Given the description of an element on the screen output the (x, y) to click on. 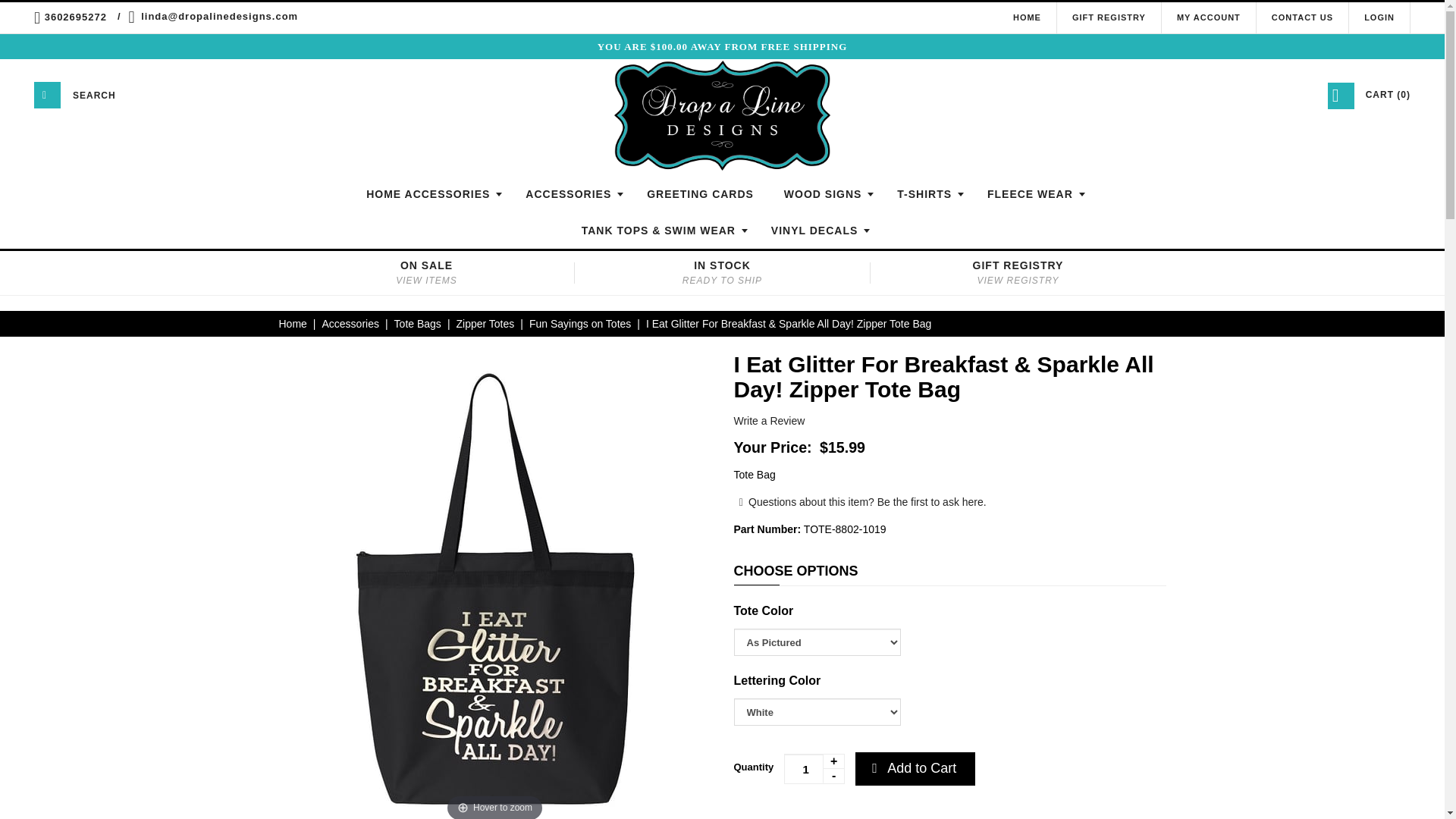
HOME (1027, 17)
ACCESSORIES (571, 194)
WOOD SIGNS (825, 194)
3602695272 (75, 17)
GREETING CARDS (700, 194)
HOME ACCESSORIES (430, 194)
CONTACT US (1302, 17)
GIFT REGISTRY (1108, 17)
1 (814, 768)
PayPal (828, 815)
LOGIN (1379, 17)
MY ACCOUNT (1208, 17)
T-SHIRTS (927, 194)
